Given the description of an element on the screen output the (x, y) to click on. 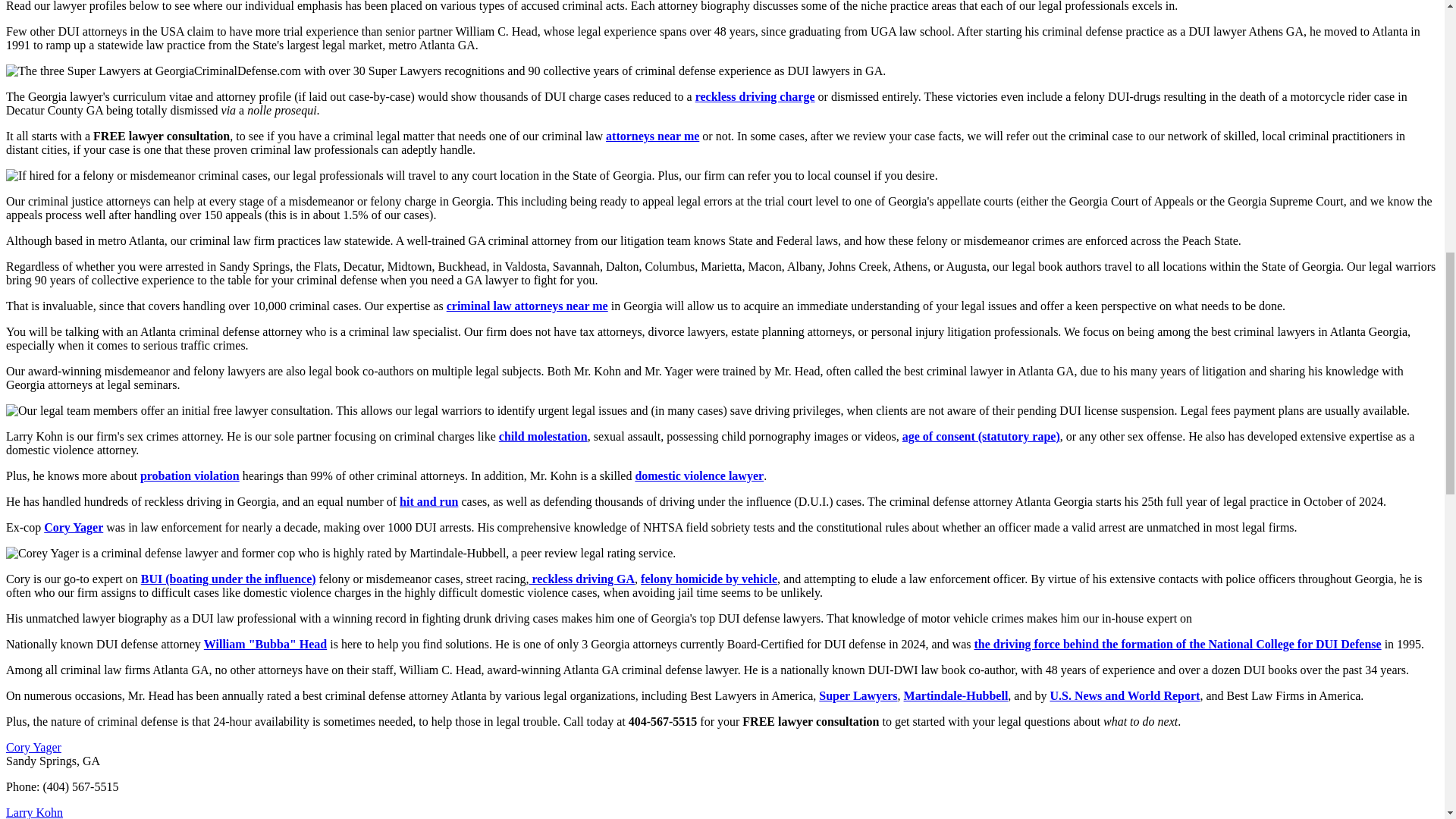
domestic violence lawyer (698, 475)
William "Bubba" Head (264, 644)
Martindale-Hubbell (956, 695)
probation violation (189, 475)
reckless driving charge (755, 96)
Read Full Bio (33, 812)
U.S. News and World Report (1124, 695)
Cory Yager (73, 526)
Read Full Bio (33, 747)
attorneys near me (651, 135)
